Given the description of an element on the screen output the (x, y) to click on. 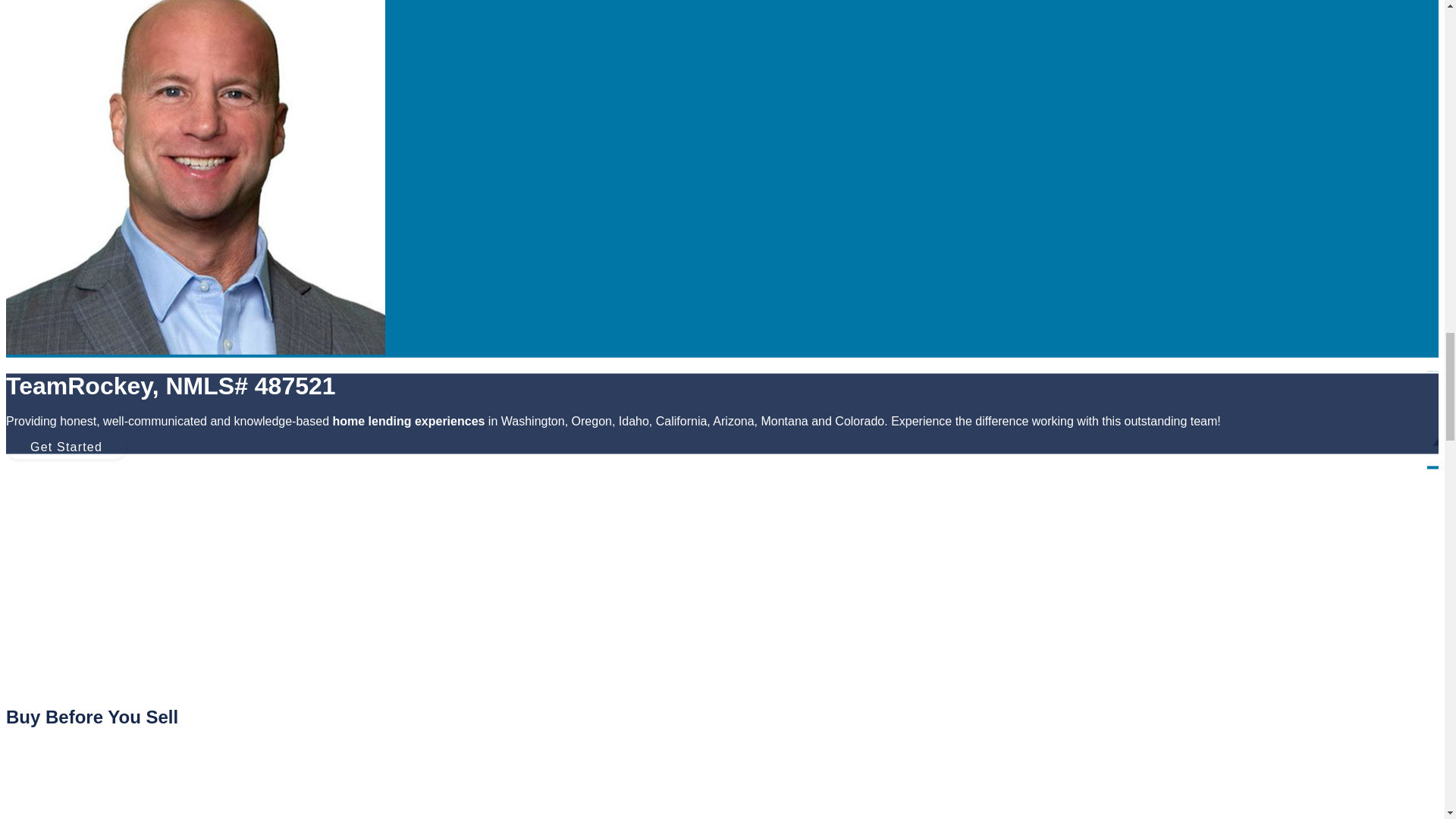
Get Started (65, 446)
